Given the description of an element on the screen output the (x, y) to click on. 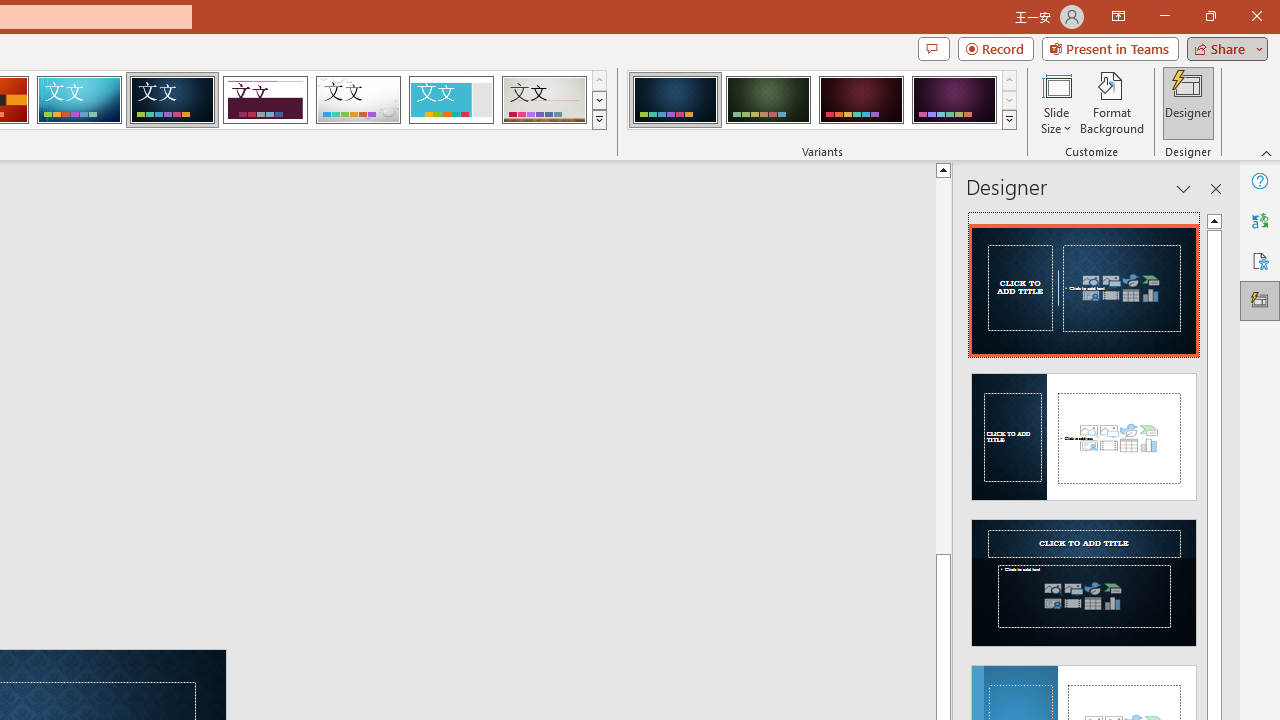
Format Background (1111, 102)
Circuit (79, 100)
Recommended Design: Design Idea (1083, 284)
Dividend (265, 100)
Variants (1009, 120)
Damask Variant 1 (674, 100)
